Given the description of an element on the screen output the (x, y) to click on. 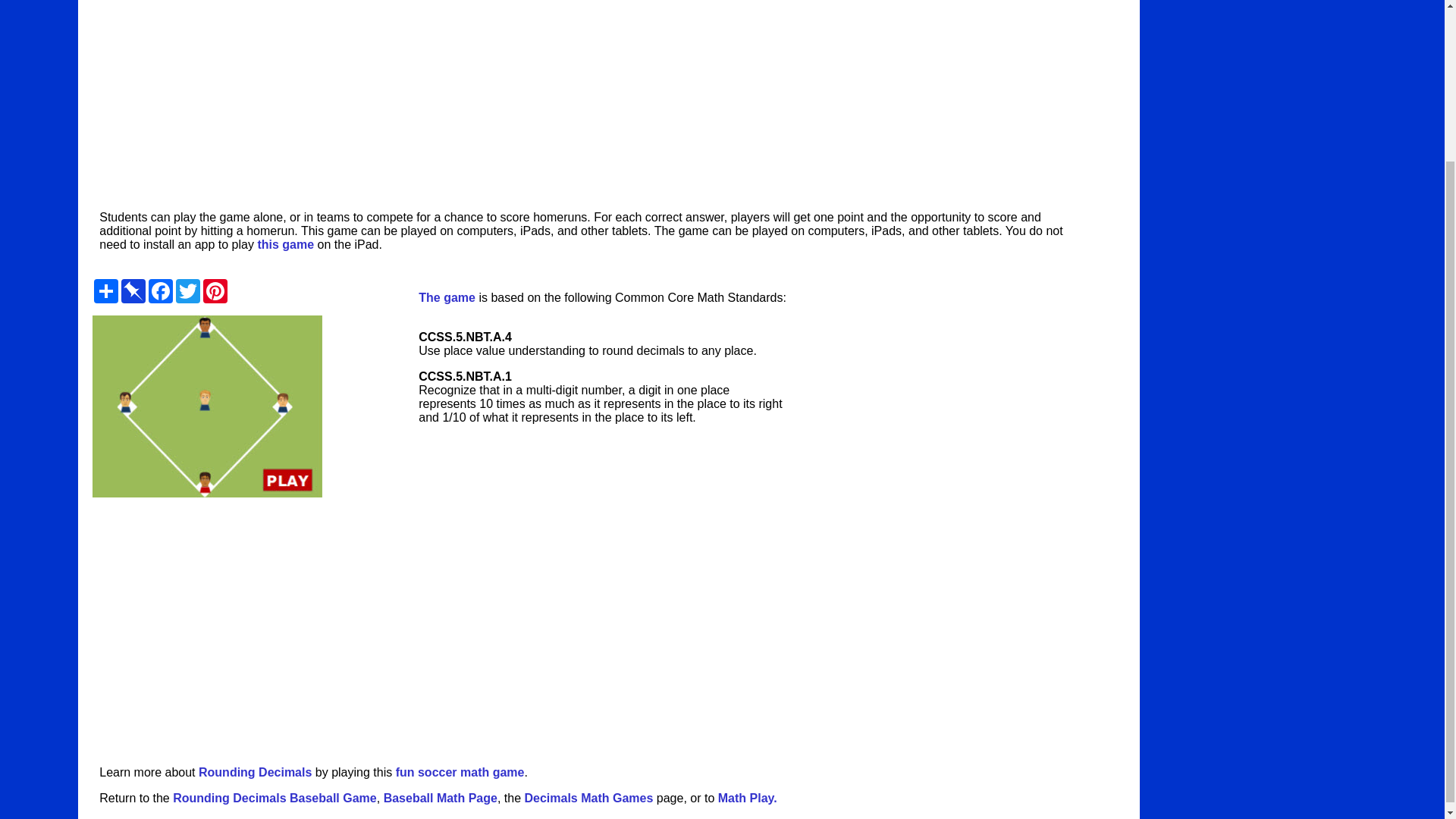
Rounding Decimals Baseball Game (275, 797)
Decimals Math Games (588, 797)
Pinboard (133, 291)
Facebook (160, 291)
Advertisement (946, 624)
Math Play. (747, 797)
Baseball Math Page (440, 797)
Twitter (188, 291)
Pinterest (215, 291)
